Given the description of an element on the screen output the (x, y) to click on. 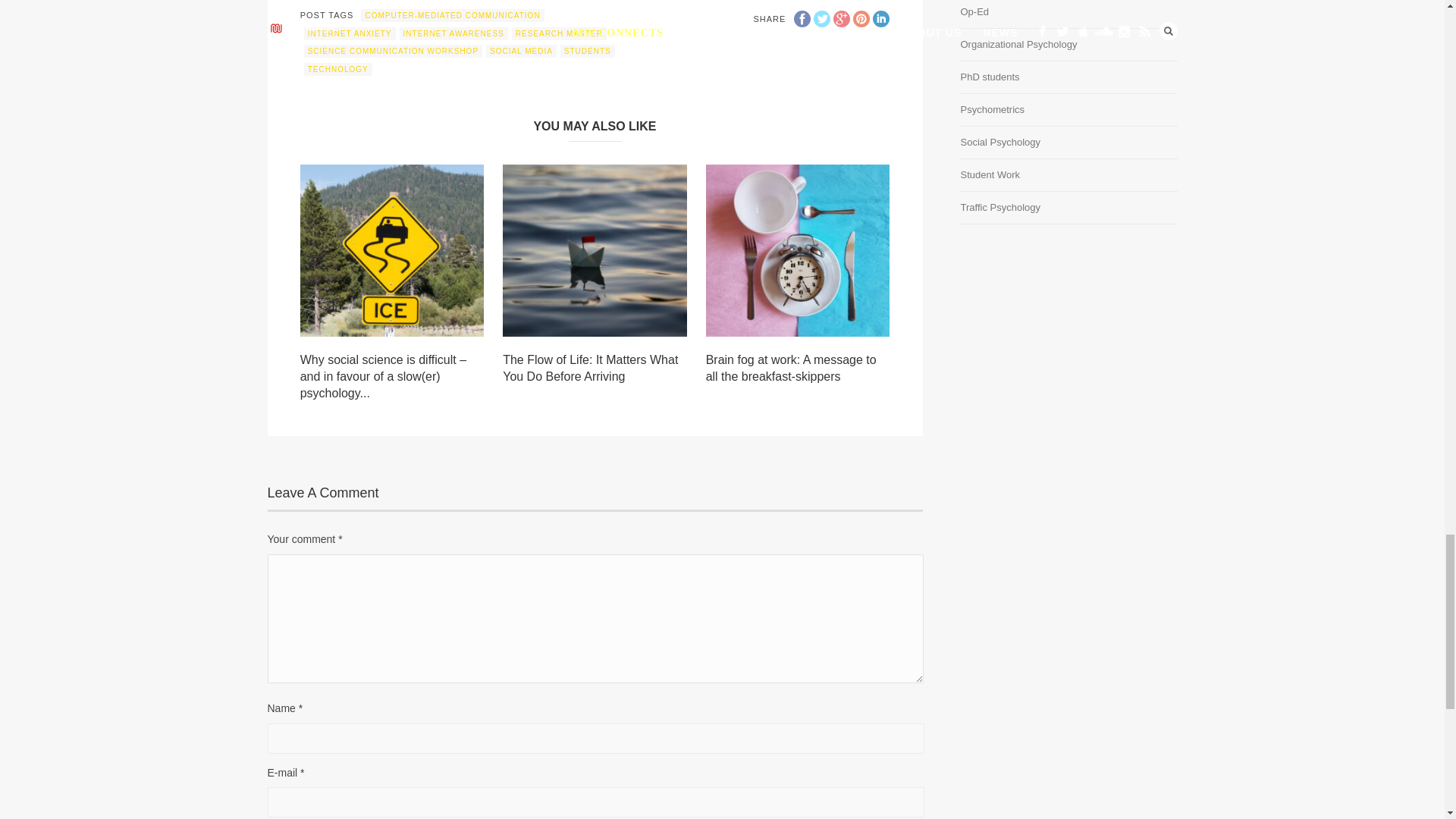
Facebook (801, 18)
Pinterest (861, 18)
INTERNET ANXIETY (350, 33)
LinkedIn (880, 18)
Twitter (821, 18)
COMPUTER-MEDIATED COMMUNICATION (452, 15)
